Given the description of an element on the screen output the (x, y) to click on. 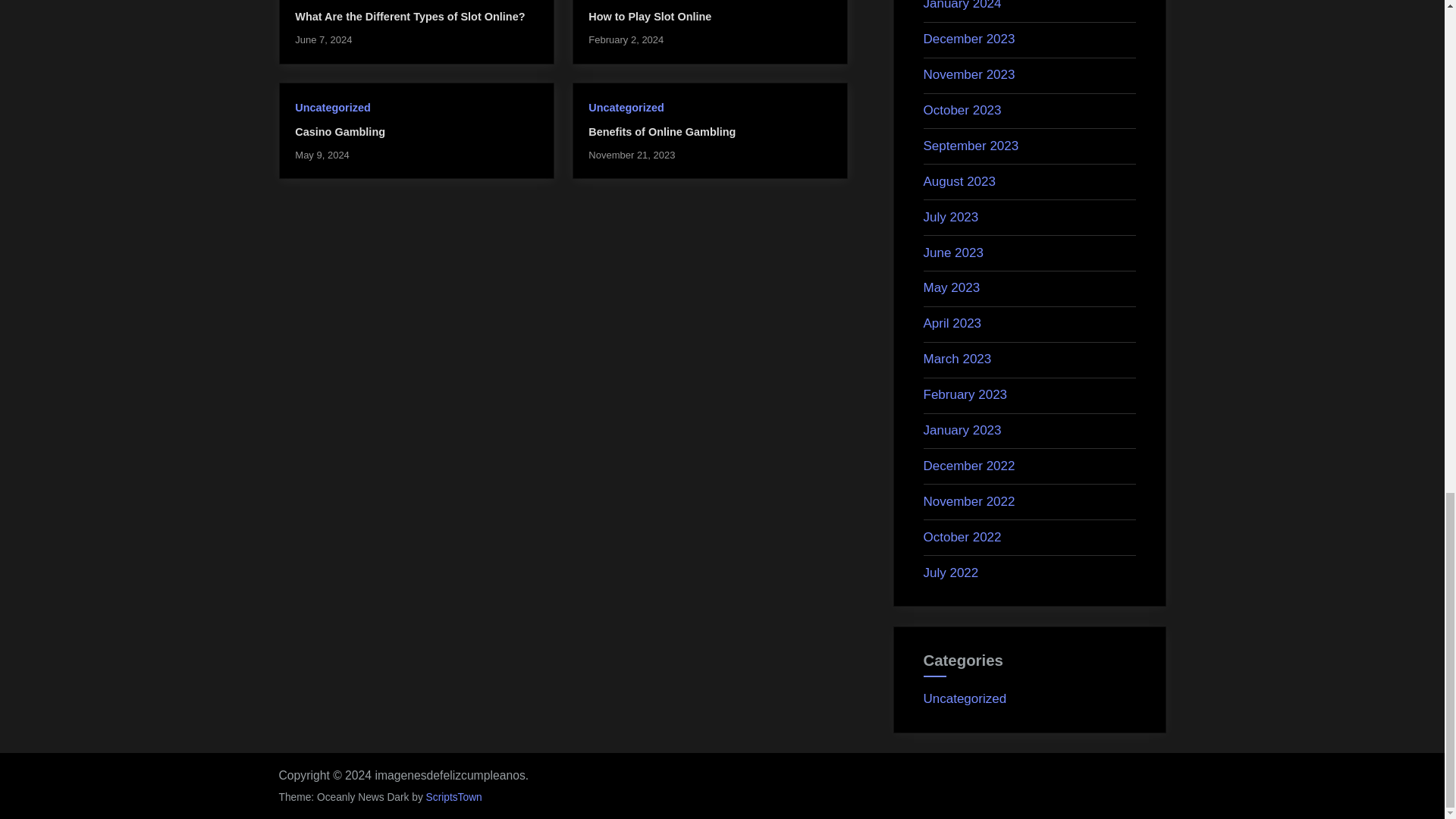
How to Play Slot Online (649, 16)
August 2023 (959, 181)
Uncategorized (625, 107)
January 2024 (962, 5)
September 2023 (971, 145)
October 2023 (962, 110)
Benefits of Online Gambling (661, 132)
Casino Gambling (340, 132)
Uncategorized (332, 107)
July 2023 (950, 216)
November 2023 (968, 74)
December 2023 (968, 38)
What Are the Different Types of Slot Online? (409, 16)
